Given the description of an element on the screen output the (x, y) to click on. 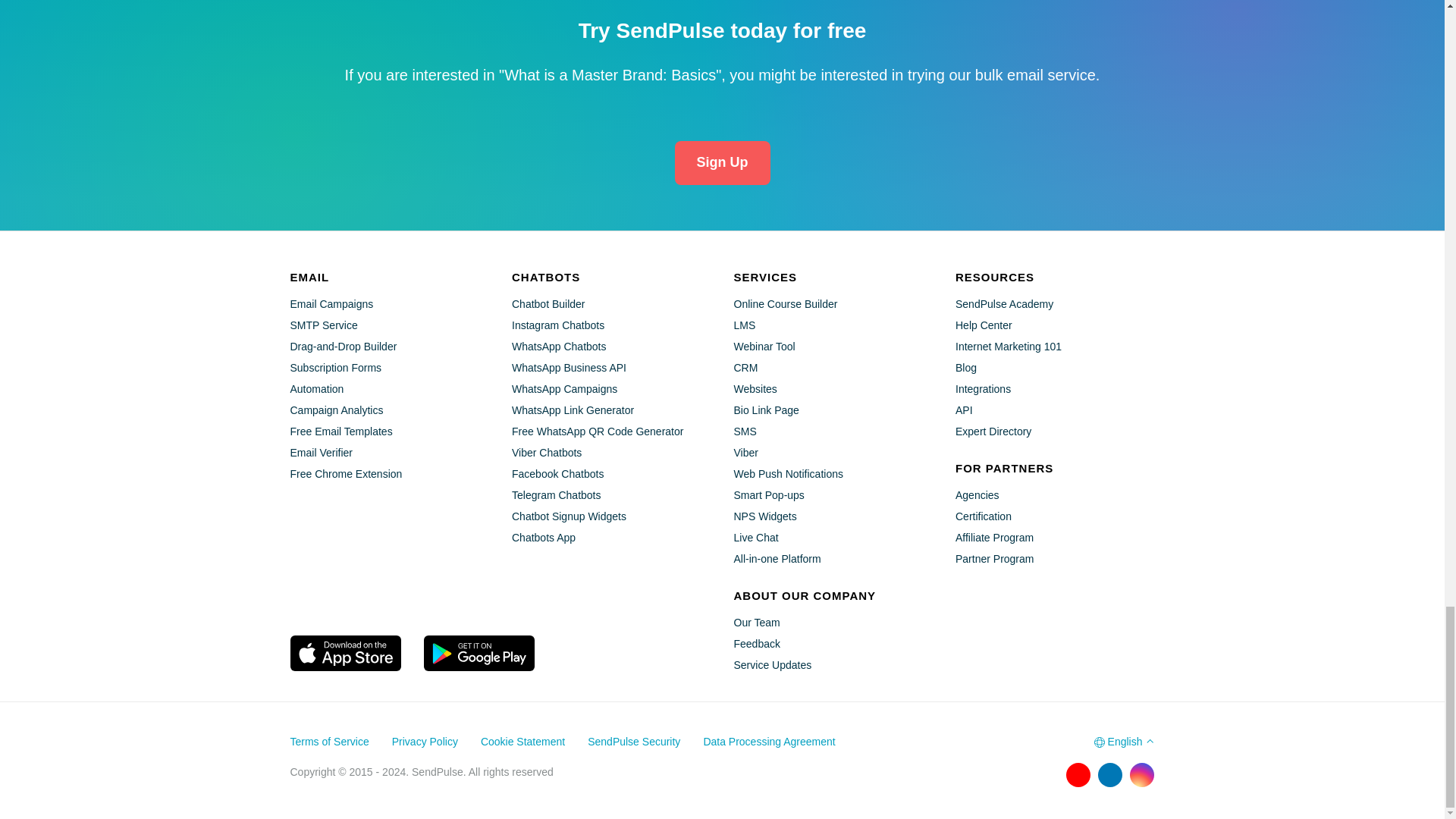
Connect with us on LinkedIn (1109, 774)
Follow us on Twitter (1045, 774)
Watch us on YouTube (1077, 774)
Follow us on Instagram (1141, 774)
Join us on Facebook (1014, 774)
